Given the description of an element on the screen output the (x, y) to click on. 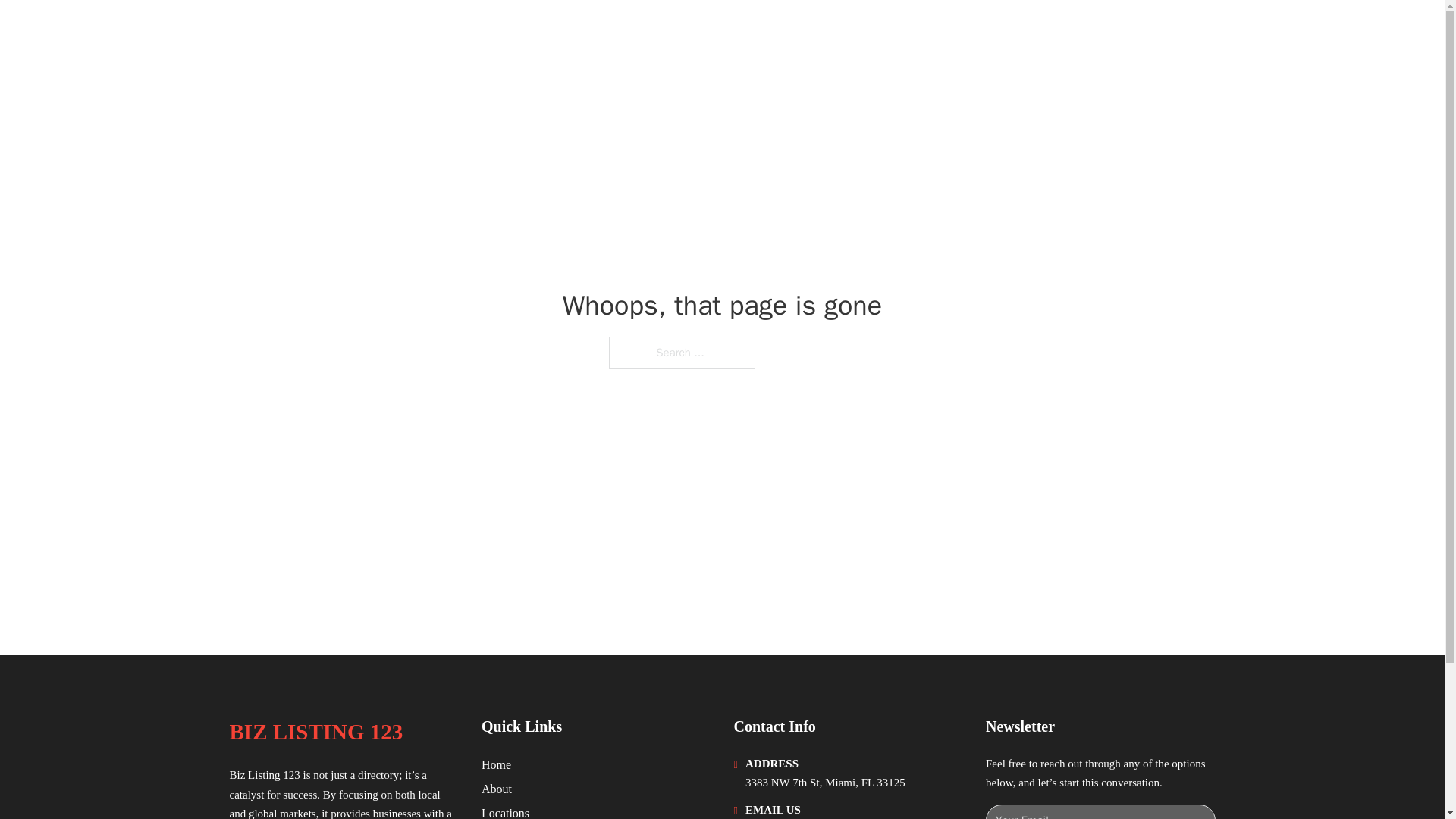
HOME (1025, 31)
BIZ LISTING 123 (324, 31)
Locations (505, 811)
About (496, 788)
LOCATIONS (1098, 31)
Home (496, 764)
BIZ LISTING 123 (315, 732)
